Given the description of an element on the screen output the (x, y) to click on. 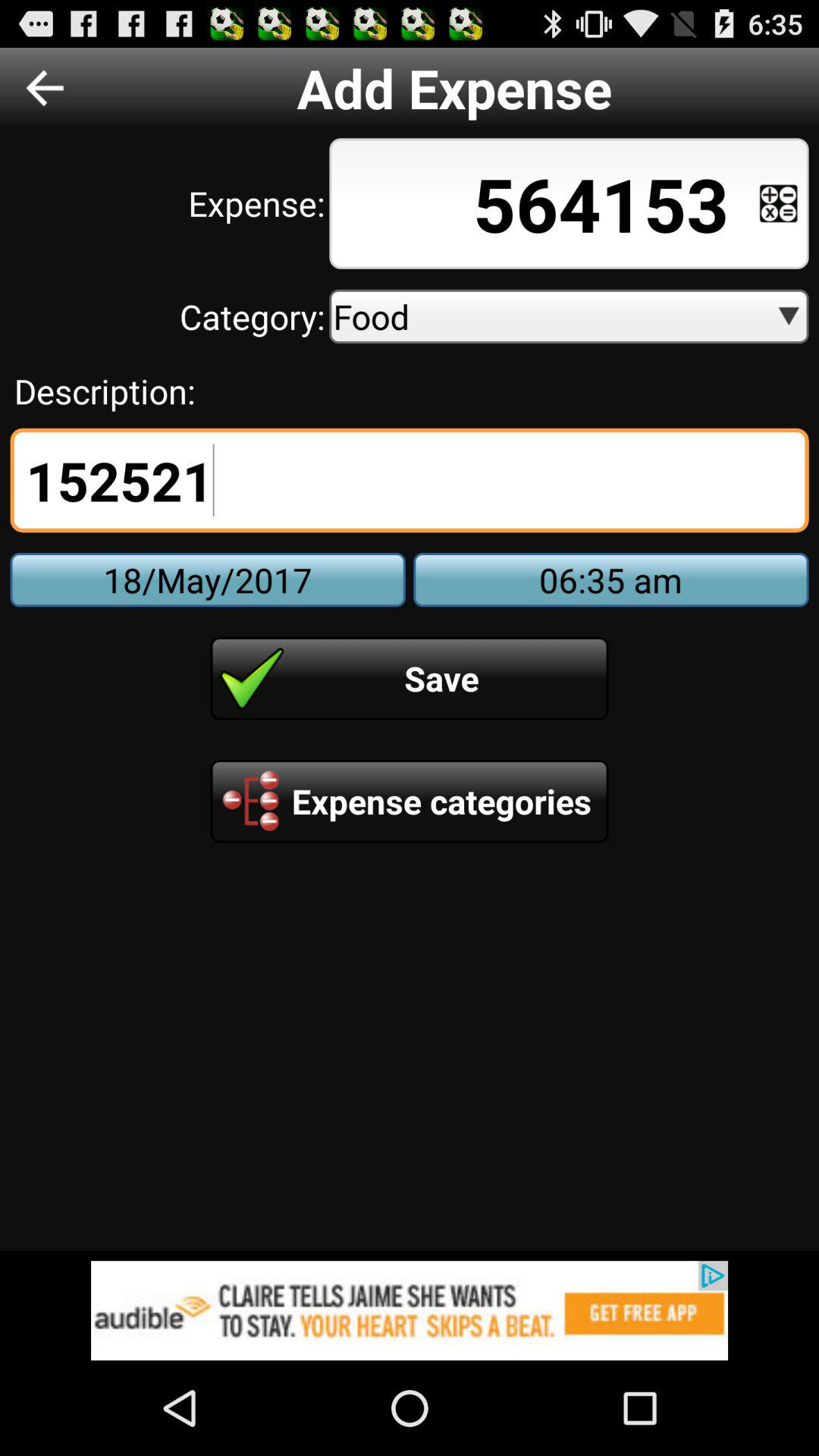
toggle autoplay option (778, 203)
